Given the description of an element on the screen output the (x, y) to click on. 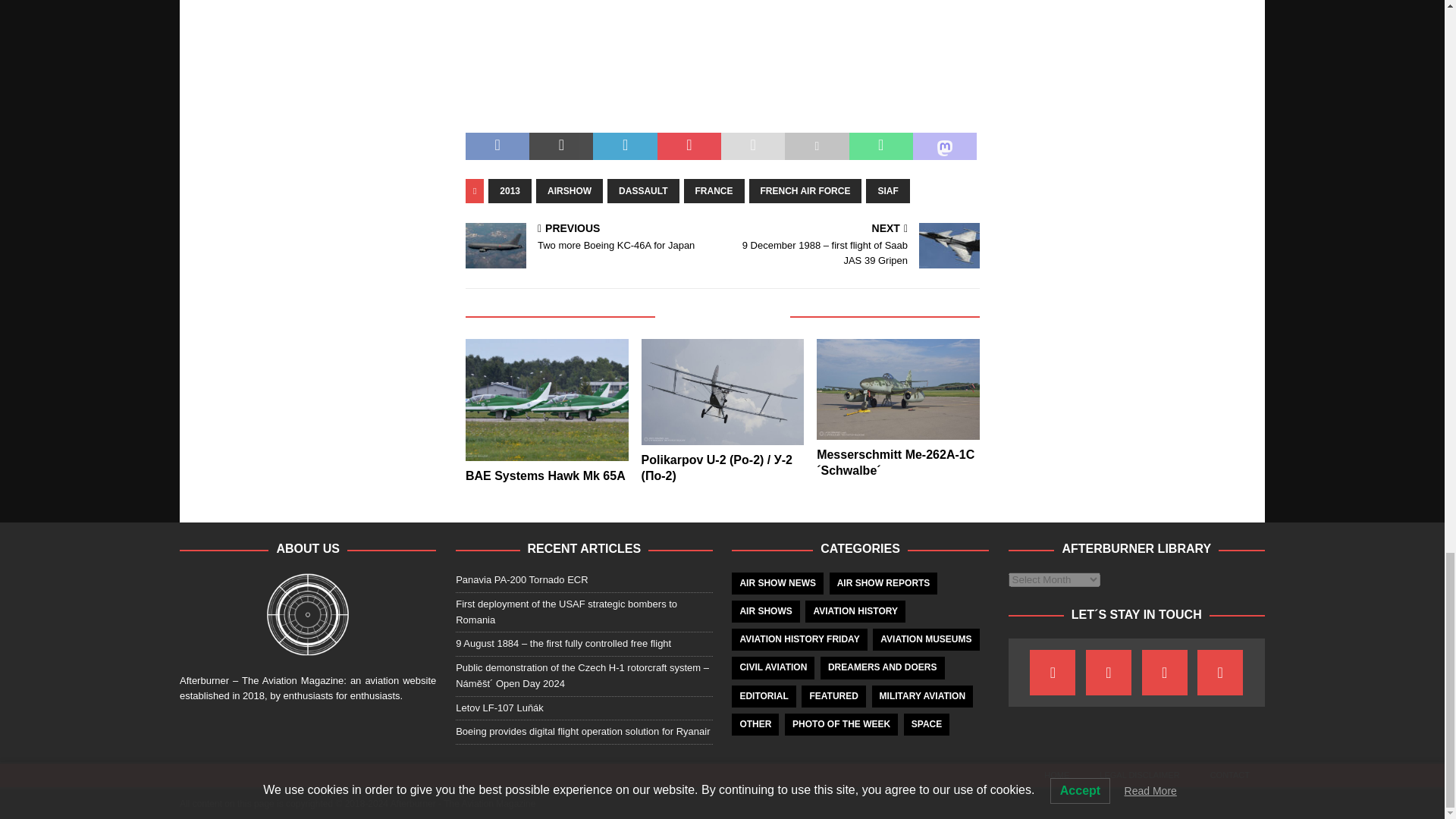
Pin This Post (689, 145)
Share on Whatsapp (880, 145)
BAE Systems Hawk Mk 65A (545, 475)
Share on Facebook (497, 145)
Send this article to a friend (752, 145)
Tweet This Post (560, 145)
Print this article (816, 145)
Share On Mastodon (944, 145)
BAE Systems Hawk Mk 65A (546, 400)
Share on LinkedIn (624, 145)
